Given the description of an element on the screen output the (x, y) to click on. 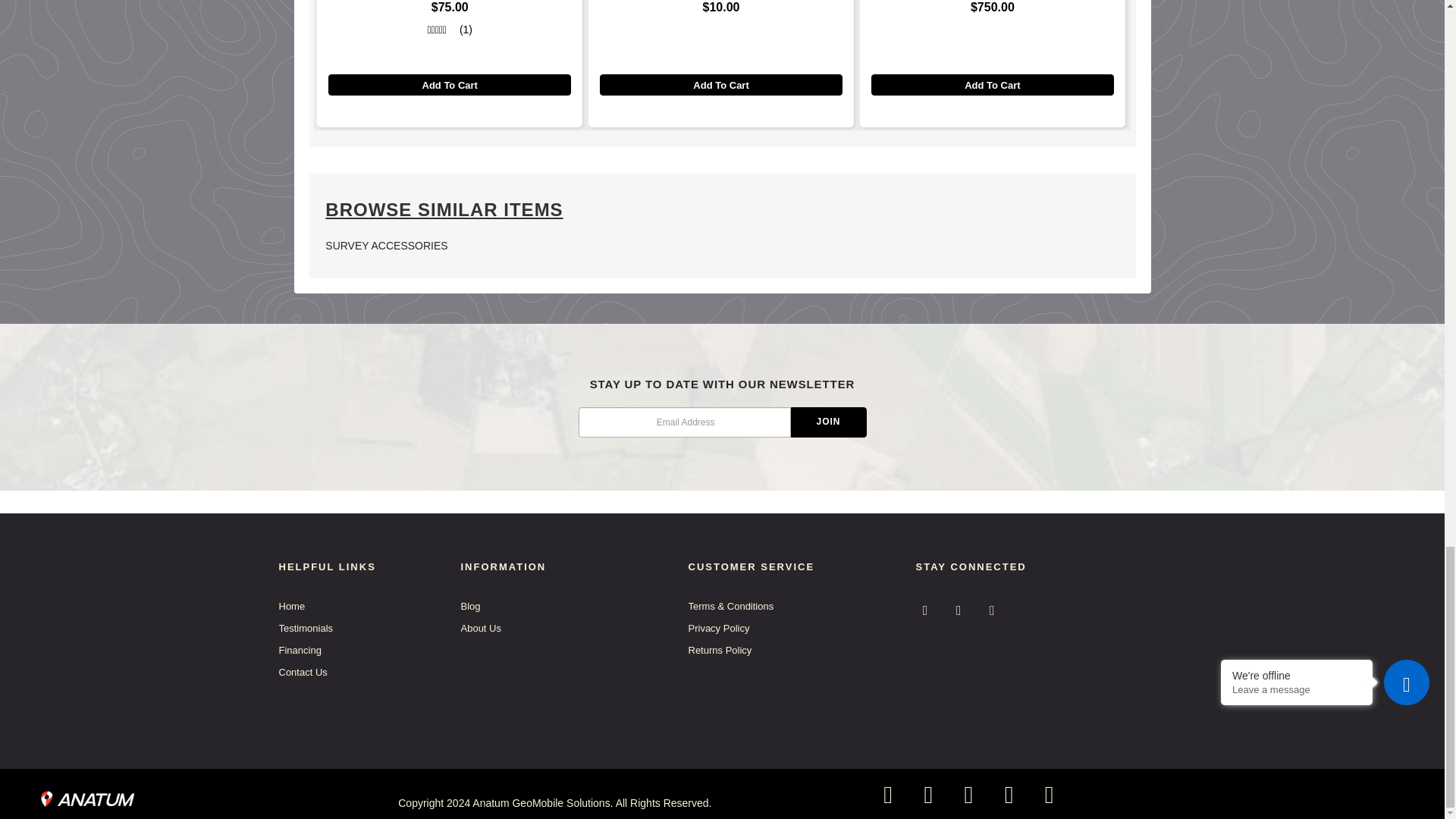
Anatum GeoMobile Solutions (87, 795)
